Given the description of an element on the screen output the (x, y) to click on. 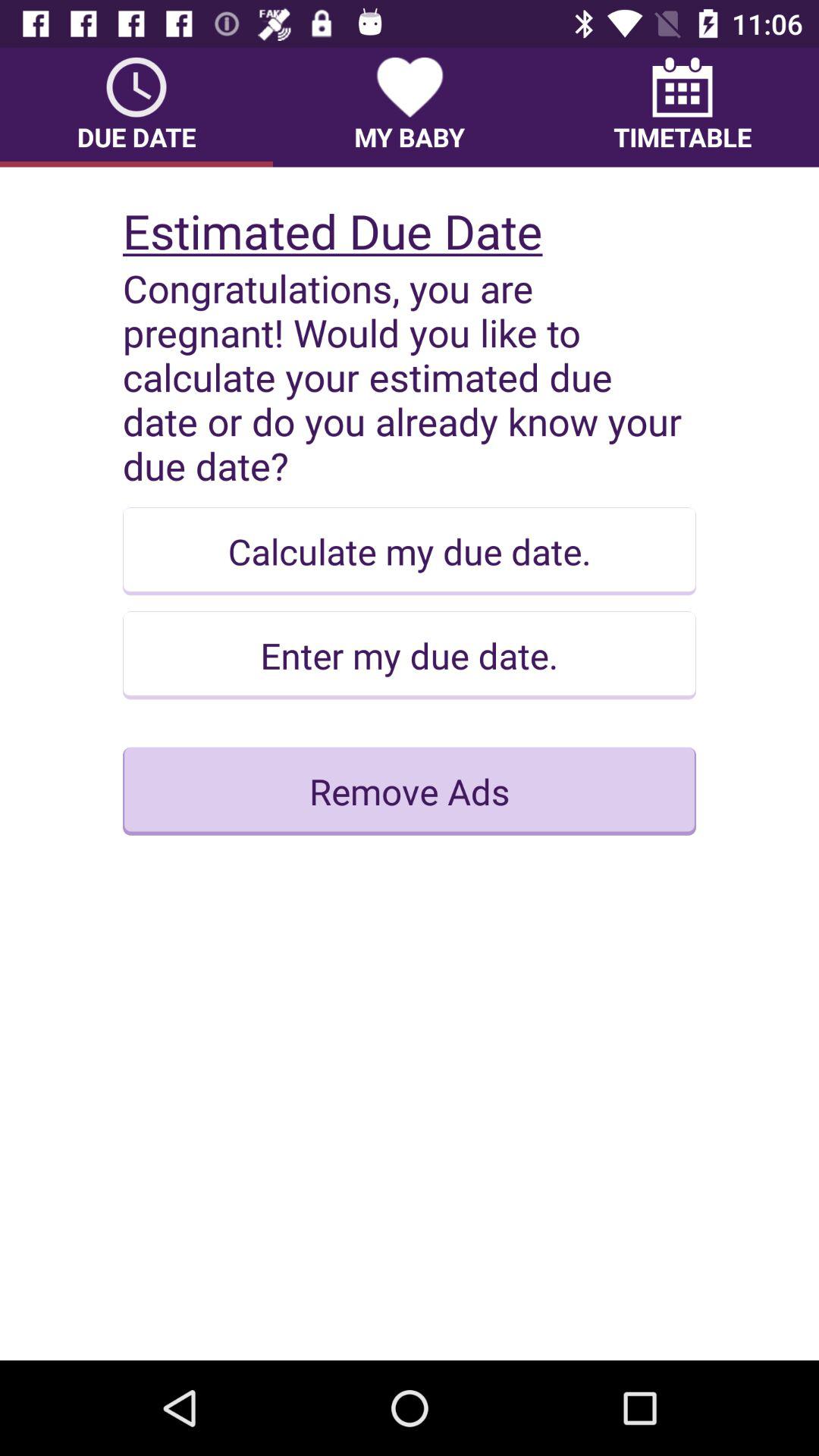
open icon to the right of the due date (409, 107)
